Given the description of an element on the screen output the (x, y) to click on. 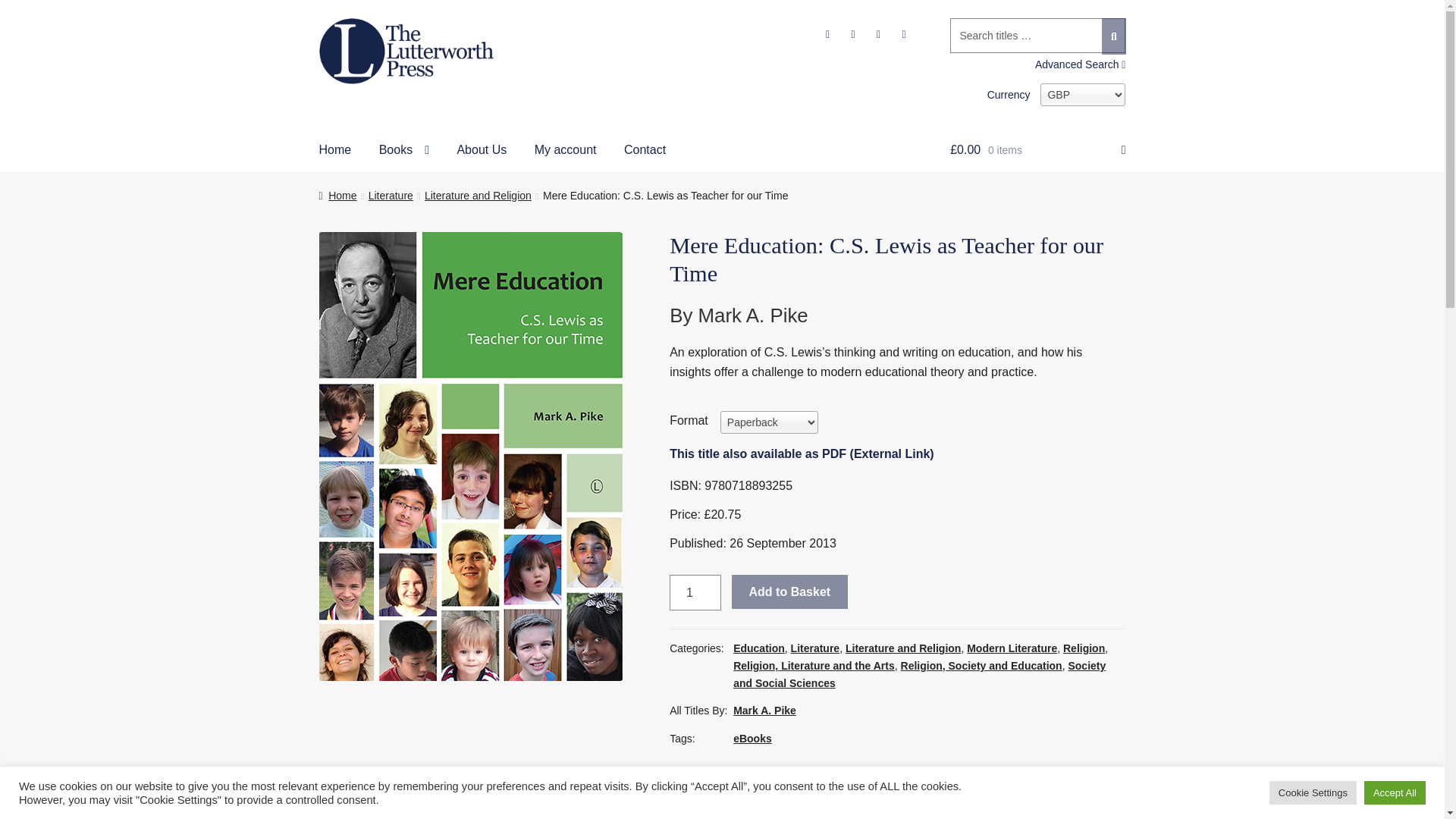
Email (729, 779)
Home (335, 153)
Twitter (705, 779)
Literature (390, 195)
View your shopping basket (1037, 153)
Books (403, 153)
1 (694, 592)
Add to Basket (789, 591)
Contact (644, 153)
Home (337, 195)
My account (565, 153)
Literature and Religion (478, 195)
Facebook (681, 779)
About Us (481, 153)
